Given the description of an element on the screen output the (x, y) to click on. 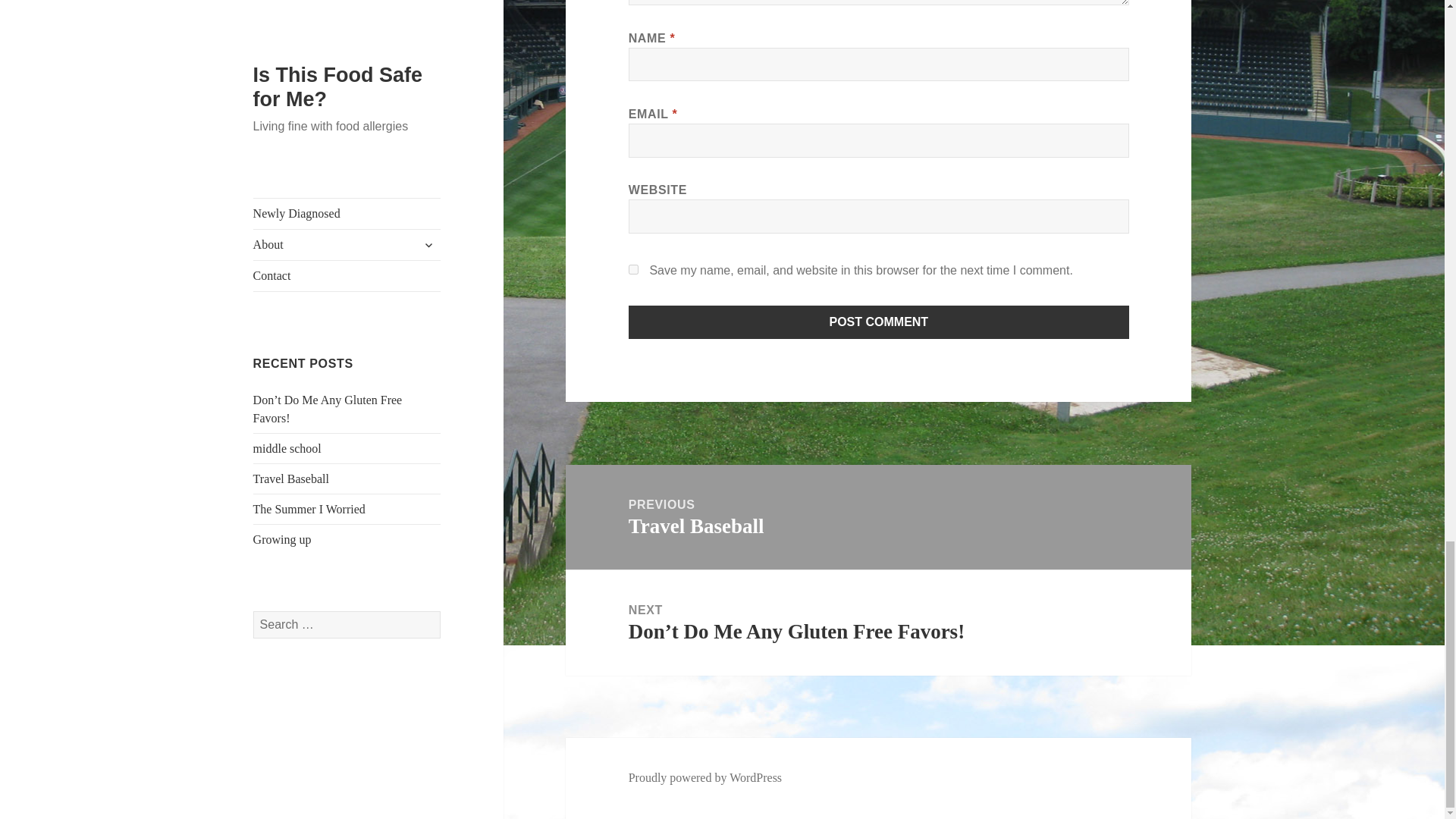
Post Comment (878, 322)
Proudly powered by WordPress (704, 777)
yes (633, 269)
Post Comment (878, 517)
